Given the description of an element on the screen output the (x, y) to click on. 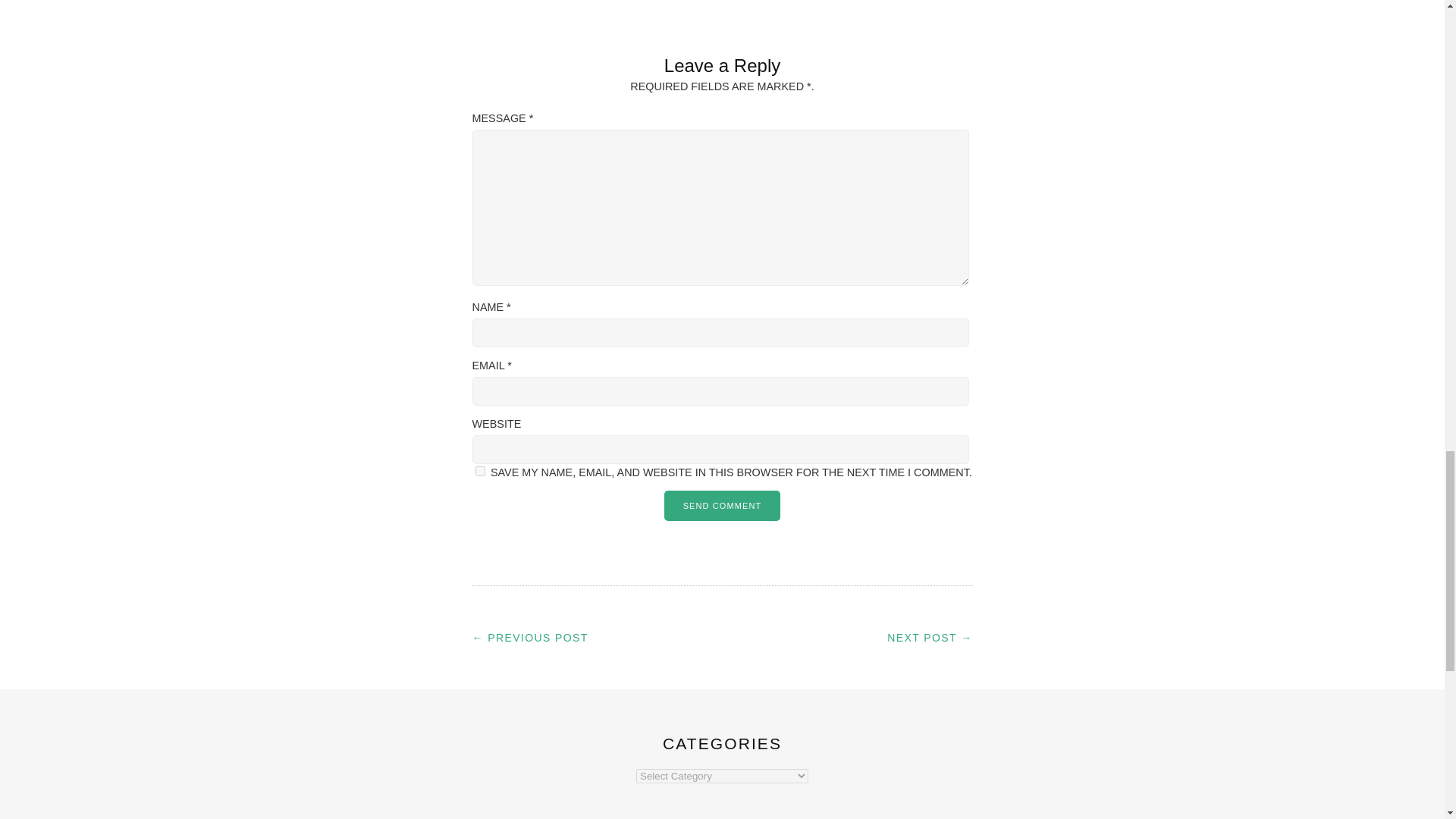
Send Comment (721, 505)
Send Comment (721, 505)
yes (479, 470)
